Given the description of an element on the screen output the (x, y) to click on. 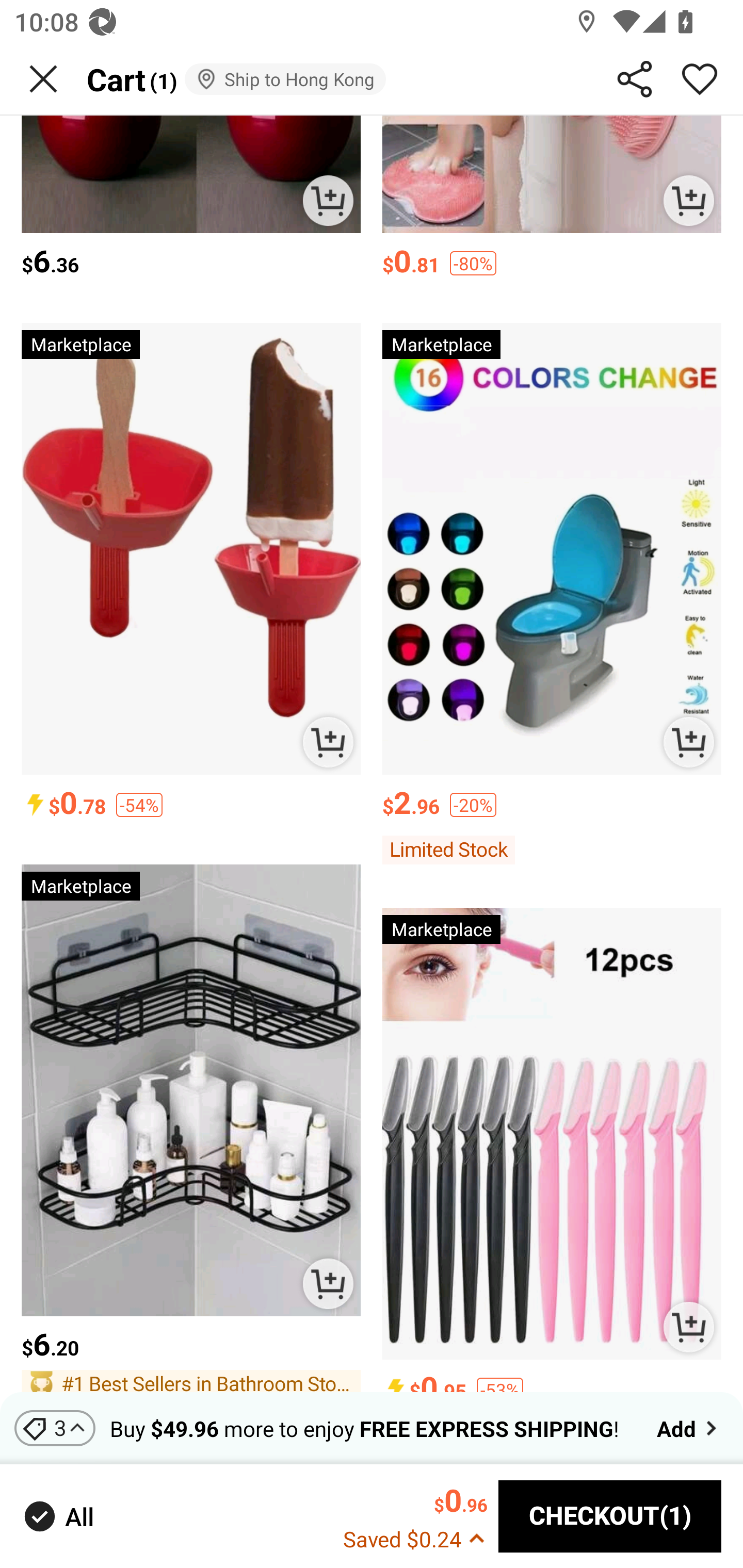
BACK (43, 78)
Wishlist (699, 78)
Share (634, 79)
Ship to Hong Kong (285, 78)
ADD TO CART (327, 200)
ADD TO CART (688, 200)
ADD TO CART (327, 742)
ADD TO CART (688, 742)
ADD TO CART (327, 1283)
ADD TO CART (688, 1327)
3 (54, 1428)
Add (688, 1428)
CHECKOUT(1) (609, 1516)
All (57, 1517)
